Given the description of an element on the screen output the (x, y) to click on. 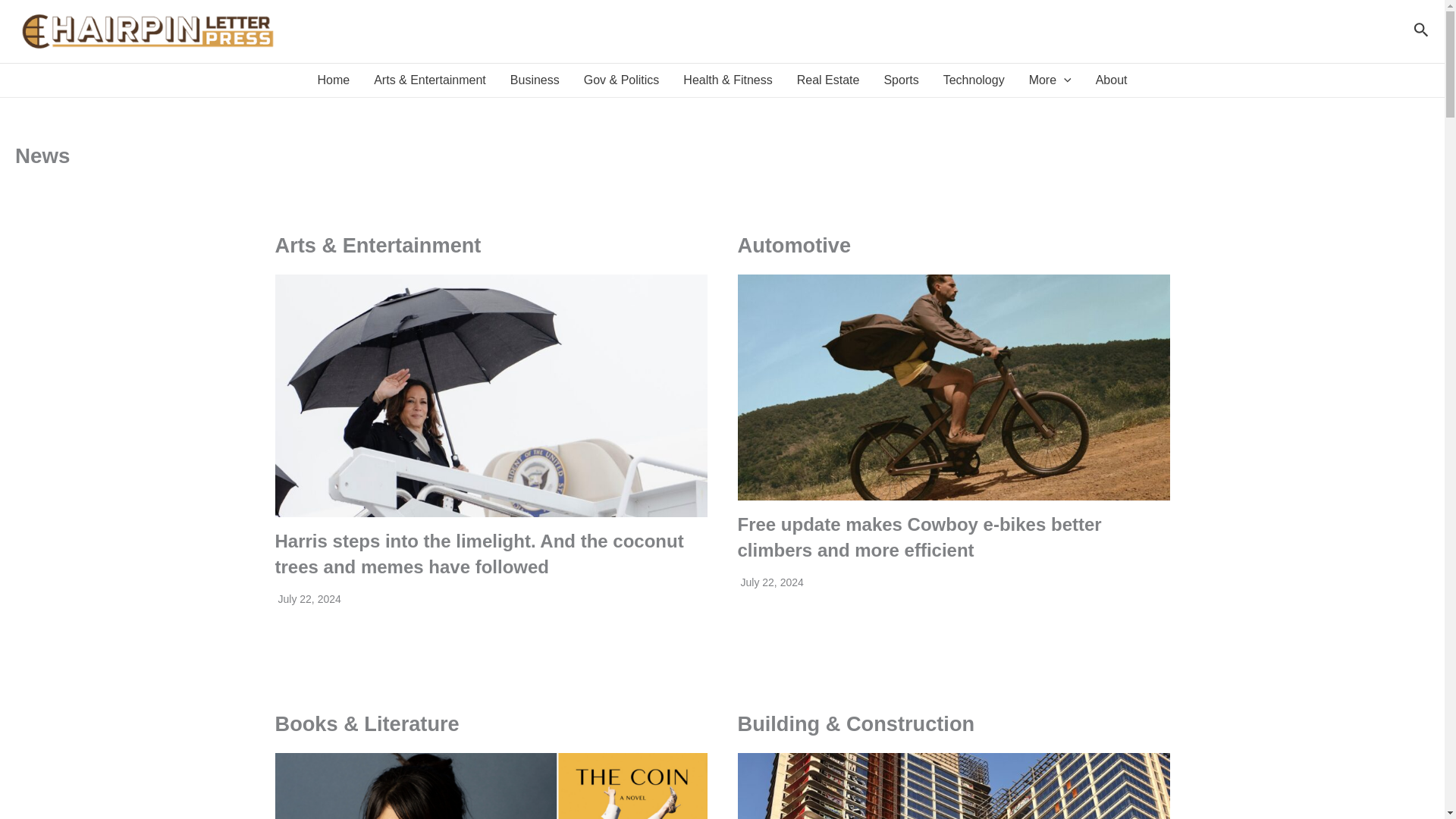
More (1049, 80)
Business (534, 80)
Sports (900, 80)
Home (332, 80)
About (1111, 80)
Real Estate (828, 80)
Technology (973, 80)
